Given the description of an element on the screen output the (x, y) to click on. 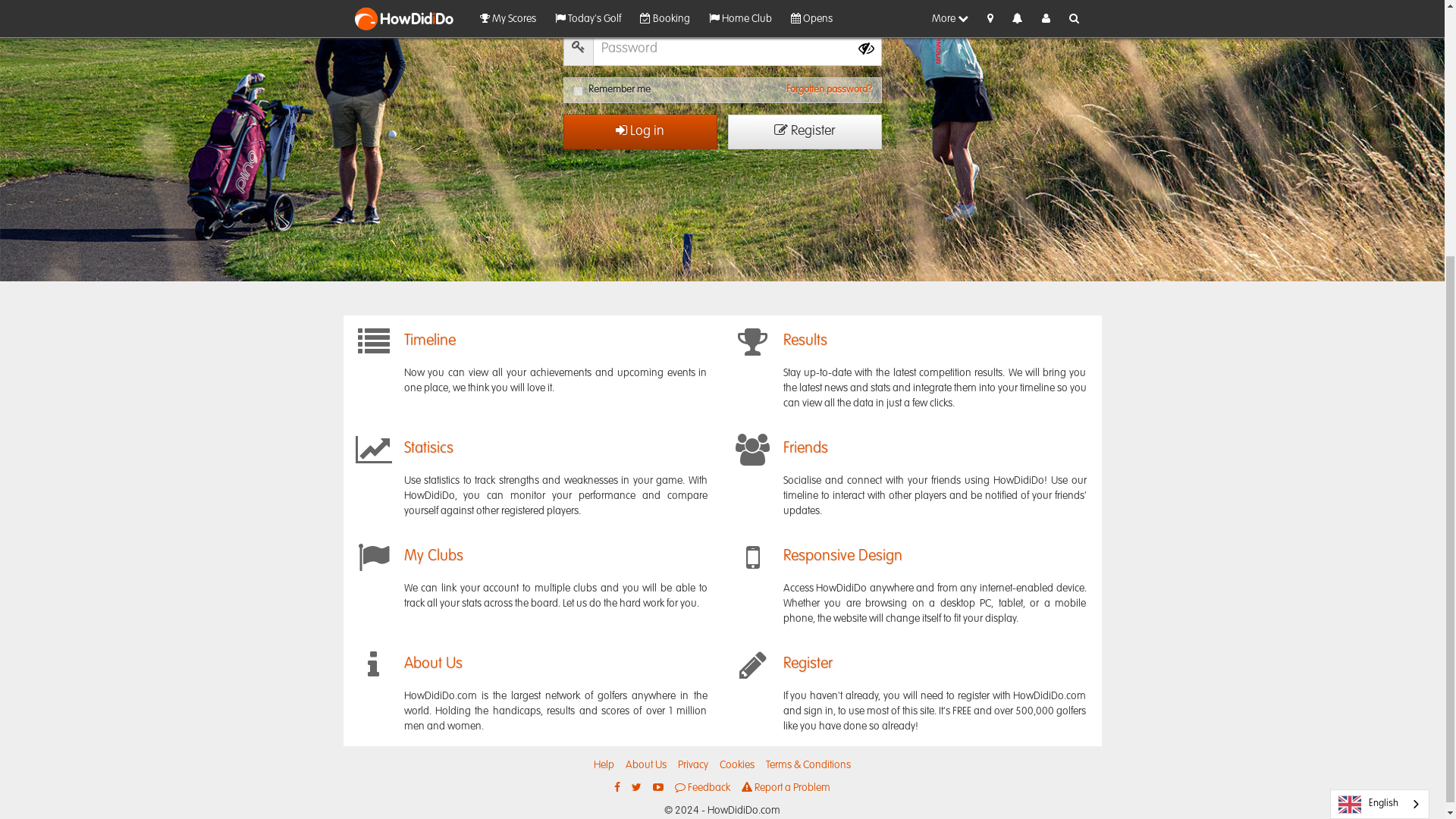
true (578, 91)
